Given the description of an element on the screen output the (x, y) to click on. 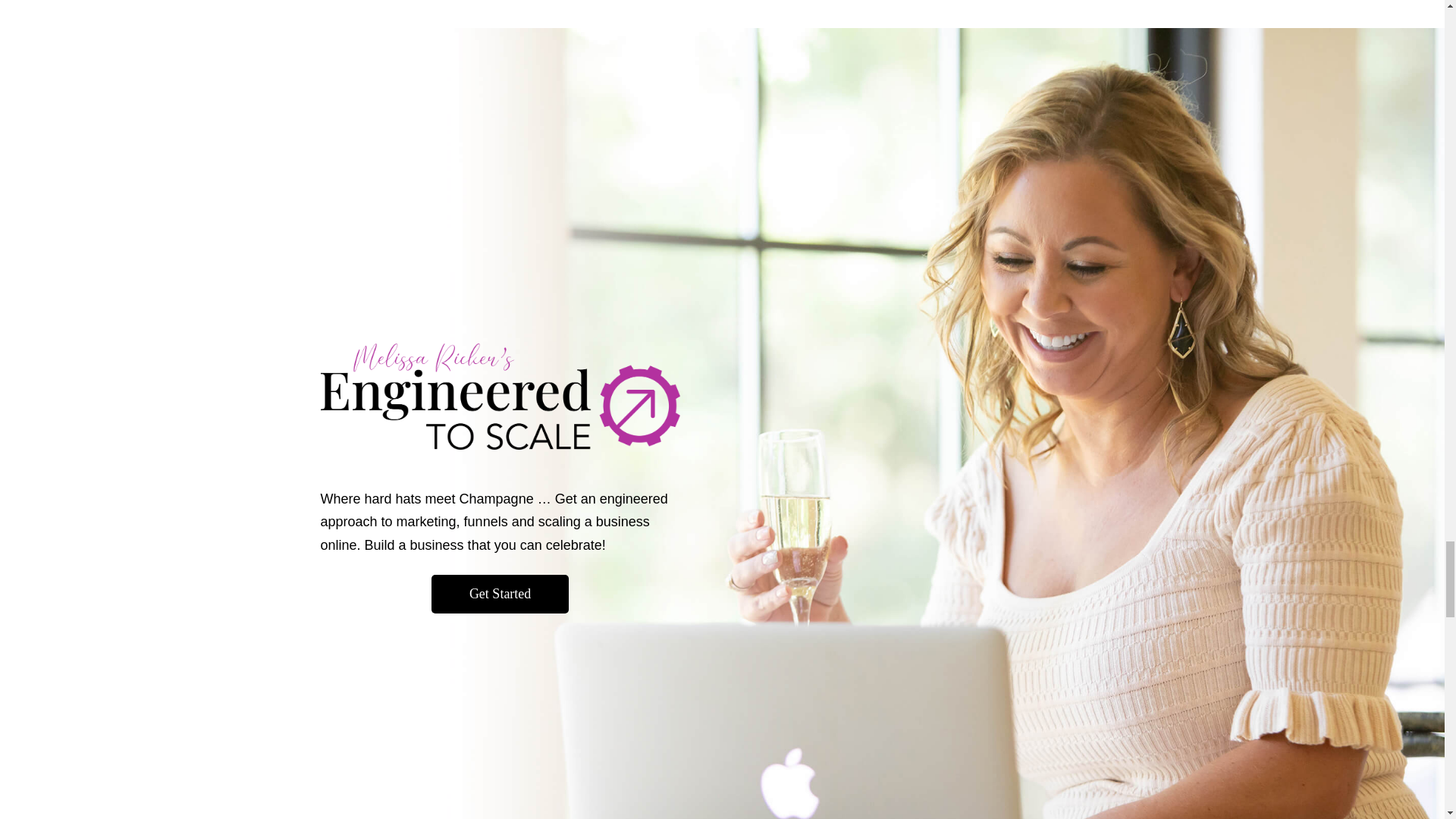
Get Started (499, 593)
billboard logo - Melissa Ricker (499, 396)
